Given the description of an element on the screen output the (x, y) to click on. 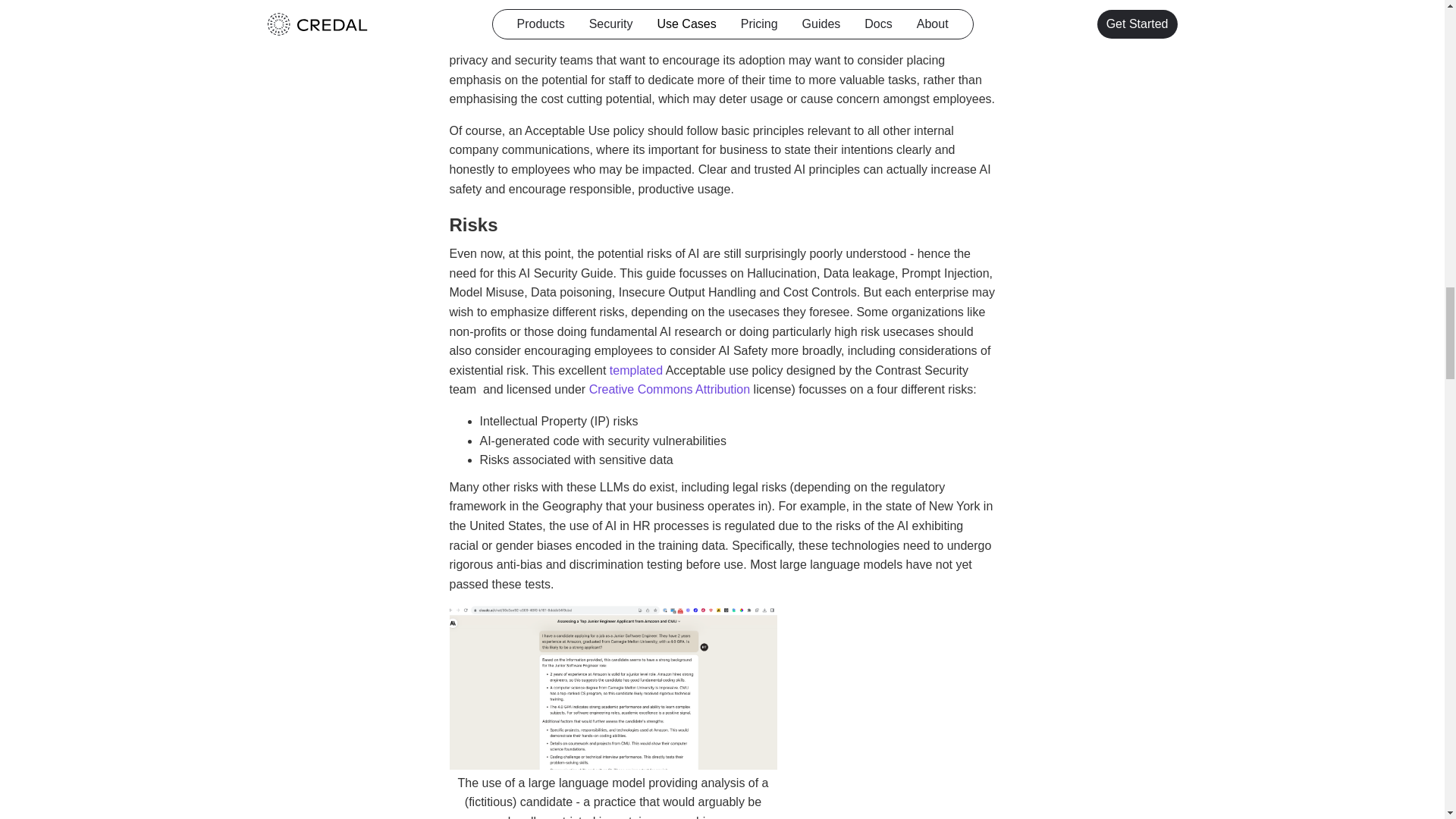
press announcements (689, 4)
Creative Commons Attribution (670, 389)
templated (636, 369)
